Given the description of an element on the screen output the (x, y) to click on. 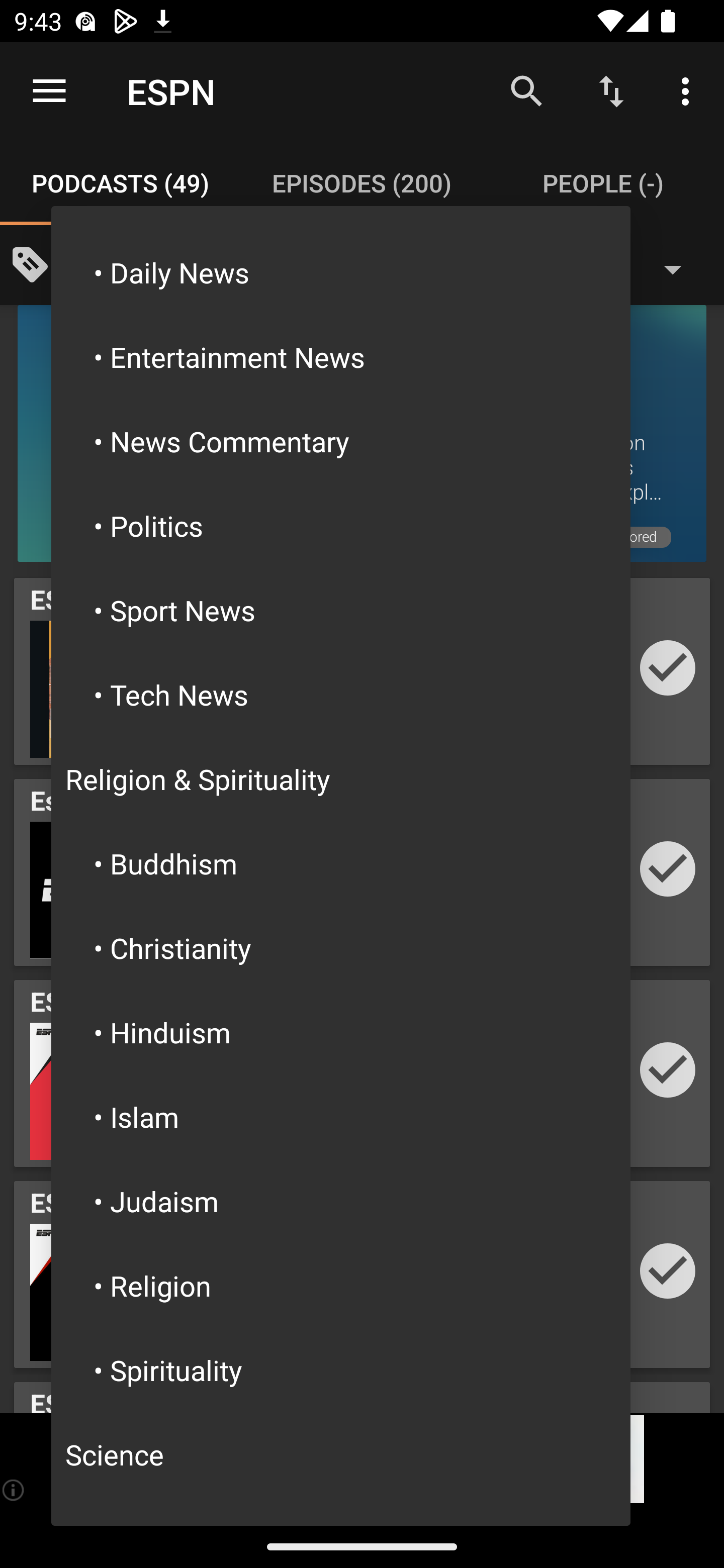
    • Daily News (340, 272)
    • Entertainment News (340, 356)
    • News Commentary (340, 440)
    • Politics (340, 524)
    • Sport News (340, 609)
    • Tech News (340, 694)
Religion & Spirituality (340, 778)
    • Buddhism (340, 863)
    • Christianity (340, 947)
    • Hinduism (340, 1031)
    • Islam (340, 1116)
    • Judaism (340, 1200)
    • Religion (340, 1285)
    • Spirituality (340, 1370)
Science (340, 1453)
